Given the description of an element on the screen output the (x, y) to click on. 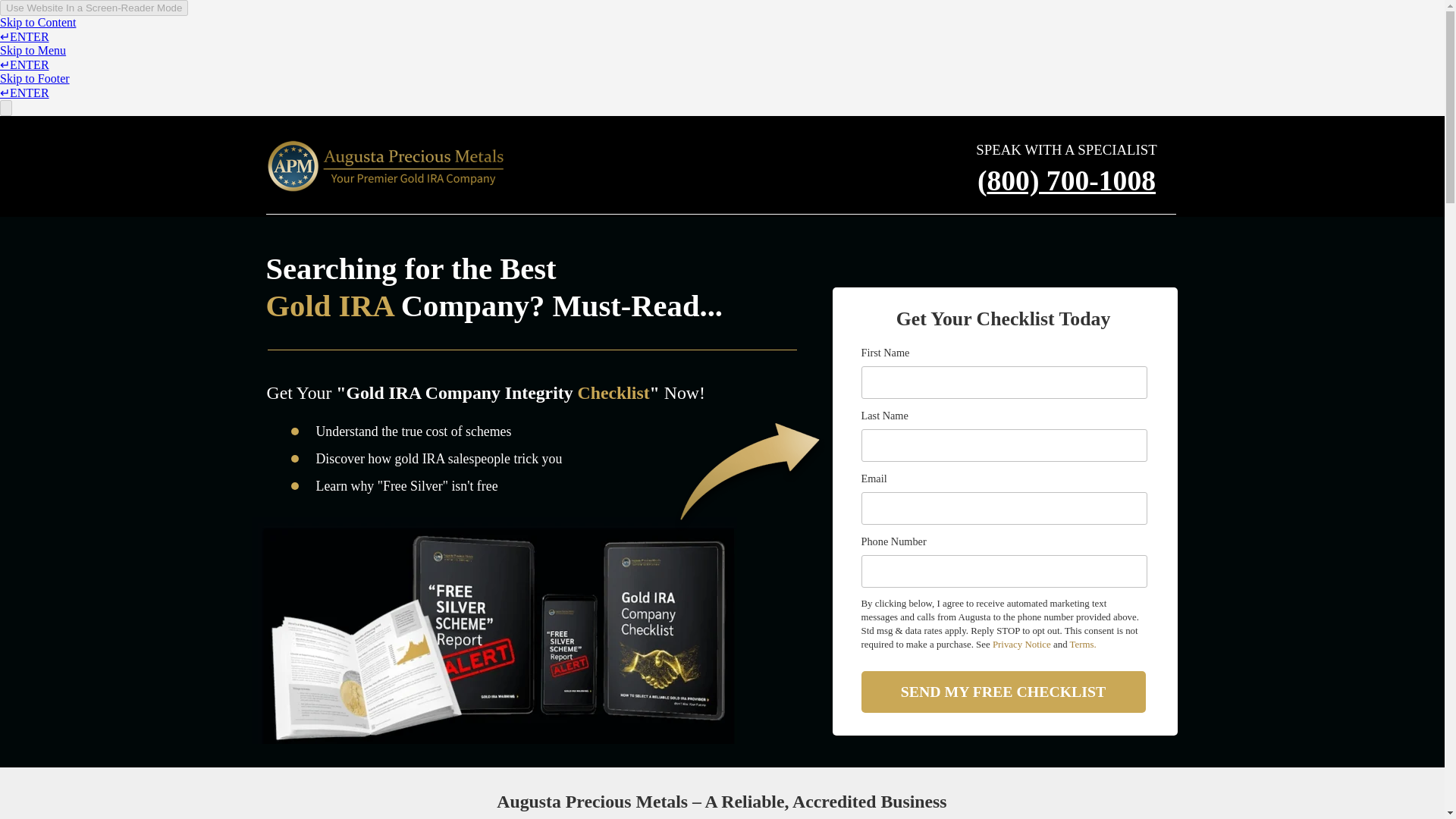
Terms. (1083, 644)
Email (1004, 508)
Phone Number (1004, 571)
Privacy Notice (1021, 644)
Last Name (1004, 445)
SEND MY FREE CHECKLIST (1003, 691)
First Name (1004, 382)
